Given the description of an element on the screen output the (x, y) to click on. 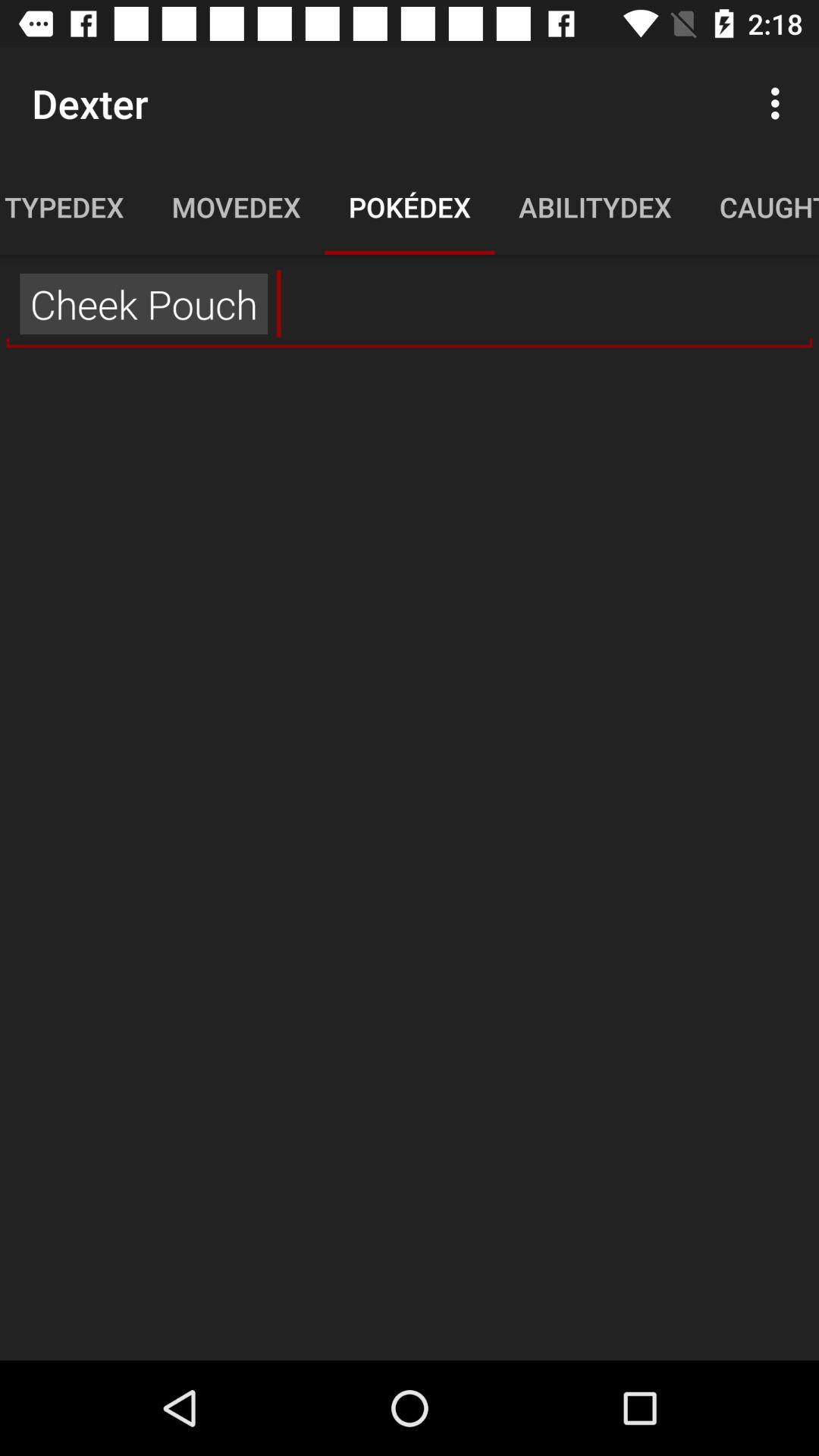
click the app next to dexter (779, 103)
